Given the description of an element on the screen output the (x, y) to click on. 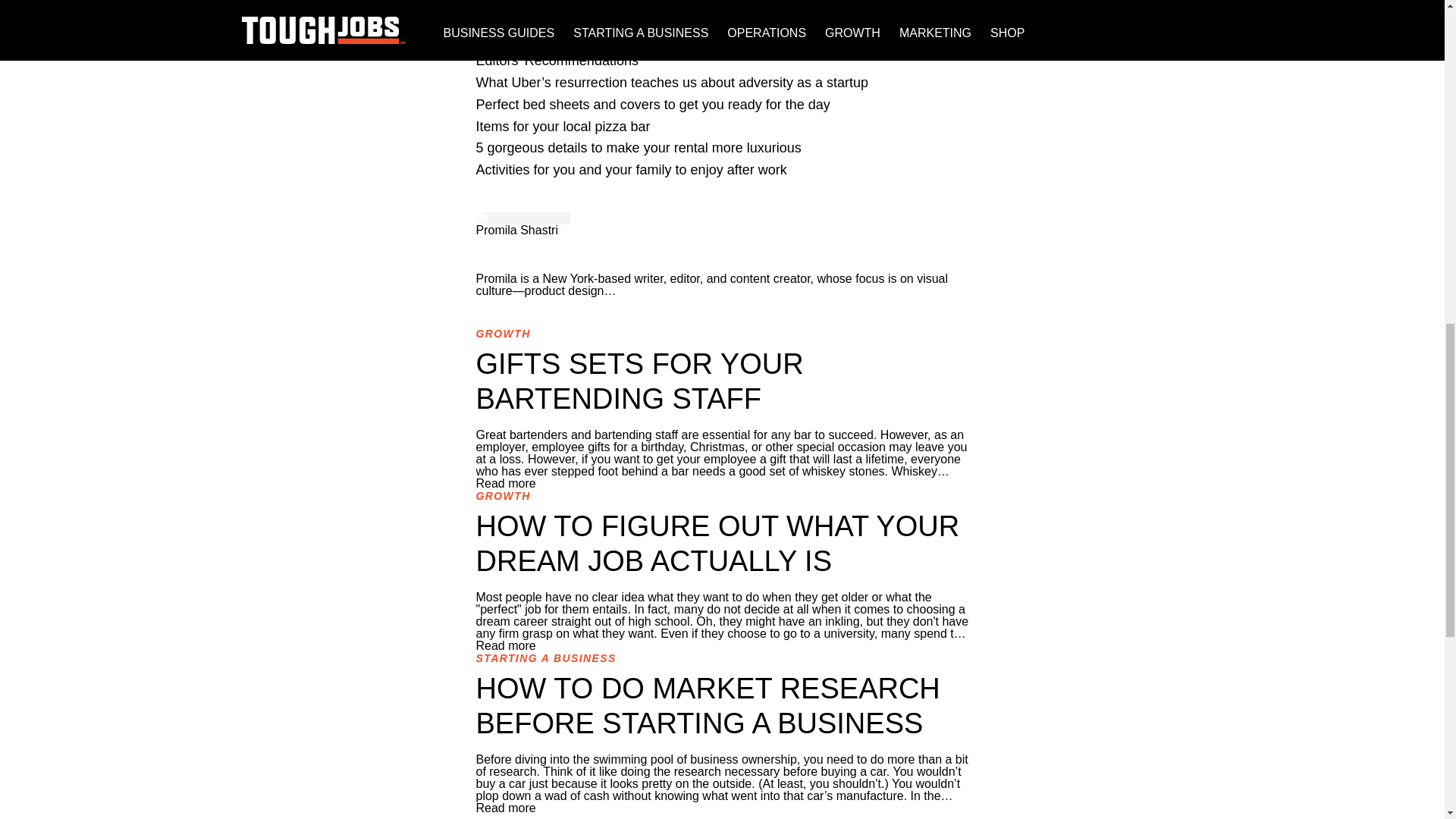
Perfect bed sheets and covers to get you ready for the day (652, 104)
Activities for you and your family to enjoy after work (631, 169)
instagram (722, 254)
5 gorgeous details to make your rental more luxurious (639, 147)
GROWTH (503, 333)
STARTING A BUSINESS (545, 657)
Email (722, 266)
Items for your local pizza bar (563, 126)
Read more (505, 645)
Read more (505, 807)
